Given the description of an element on the screen output the (x, y) to click on. 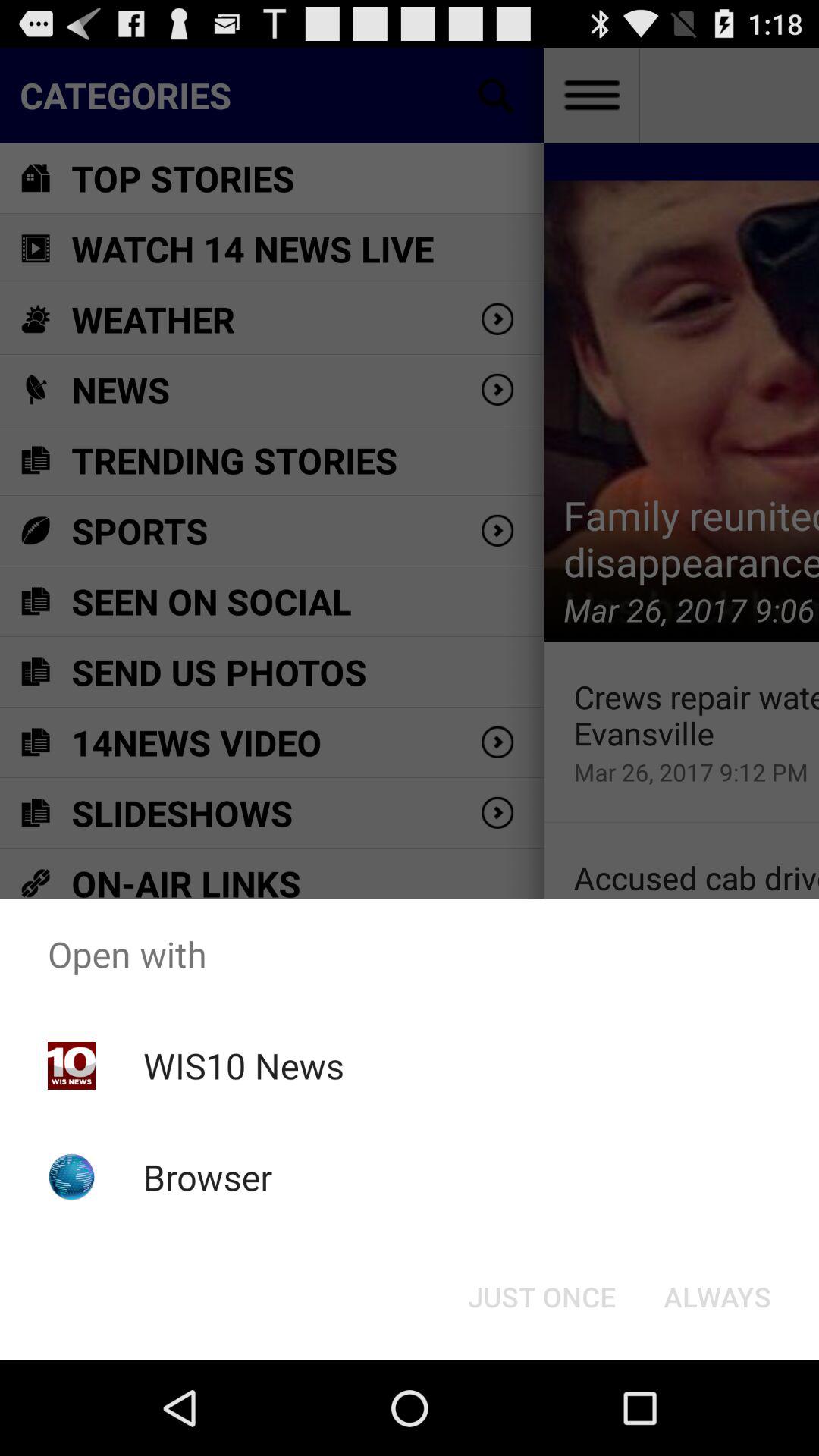
choose the icon below the open with (541, 1296)
